Given the description of an element on the screen output the (x, y) to click on. 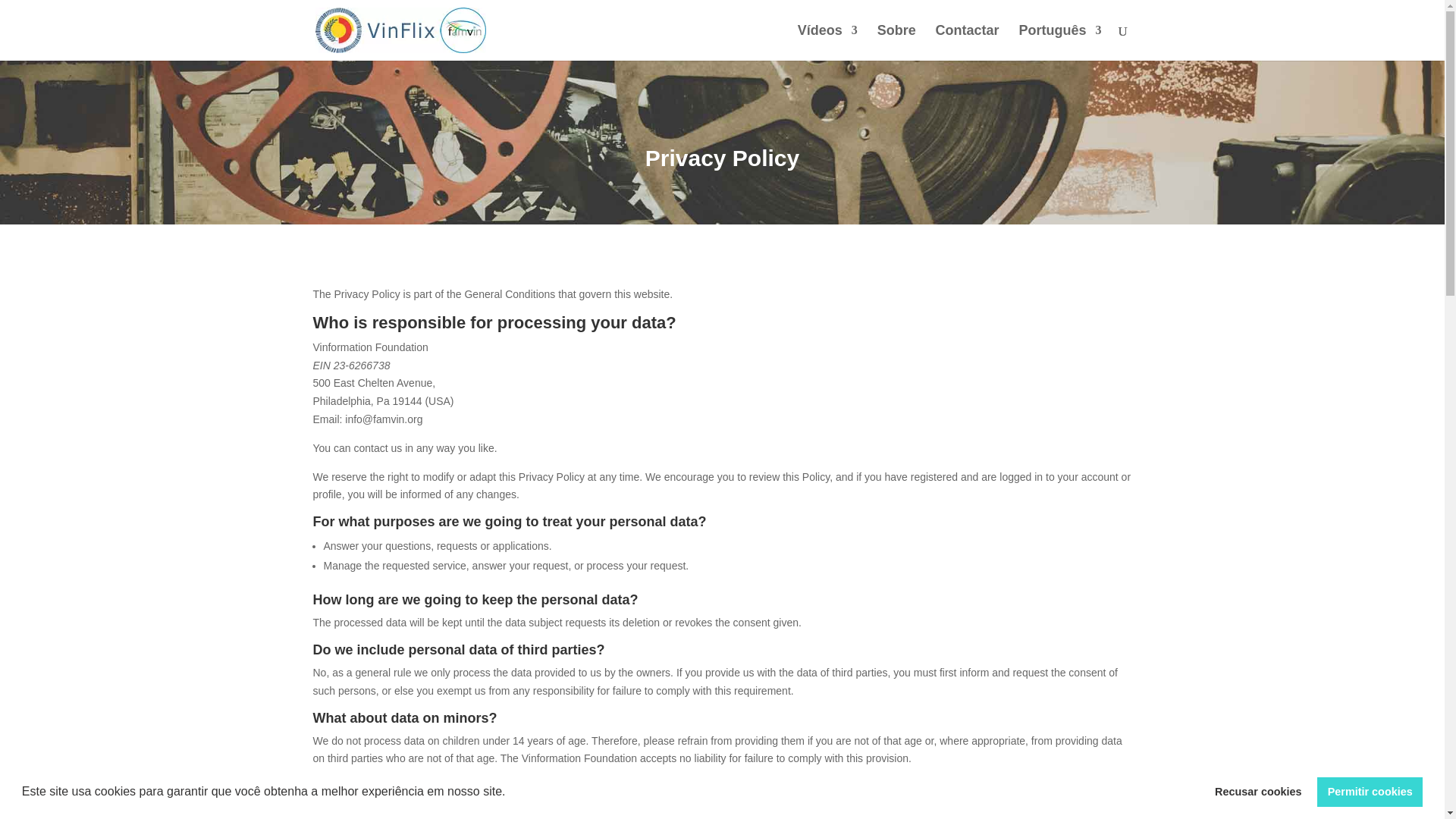
Permitir cookies (1369, 791)
Recusar cookies (1258, 791)
Contactar (967, 42)
Sobre (896, 42)
